Given the description of an element on the screen output the (x, y) to click on. 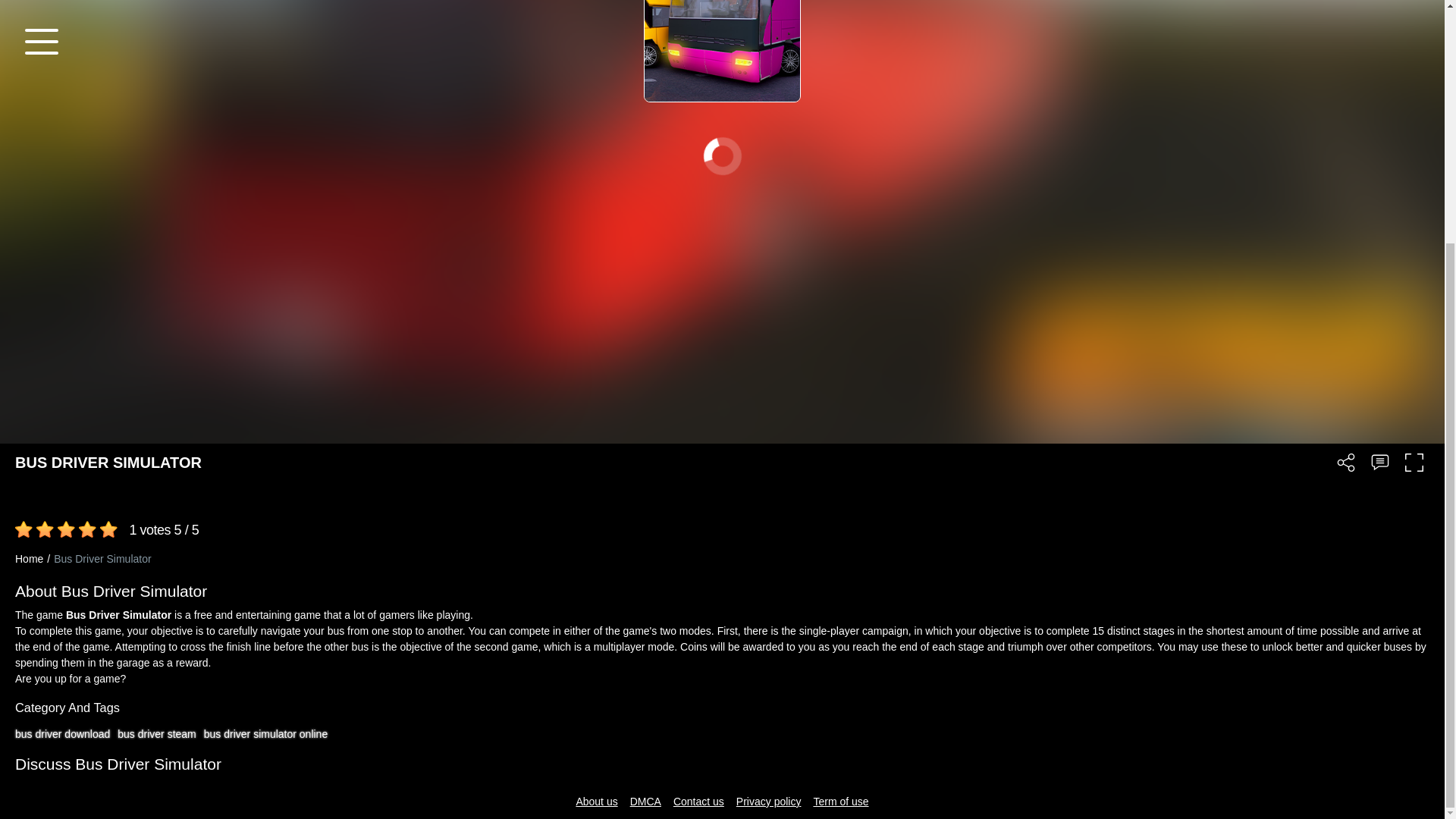
bus driver simulator online (265, 734)
Privacy policy (769, 801)
Contact us (698, 801)
Term of use (840, 801)
Home (33, 559)
About us (596, 801)
bus driver steam (156, 734)
bus driver download (62, 734)
DMCA (645, 801)
